Given the description of an element on the screen output the (x, y) to click on. 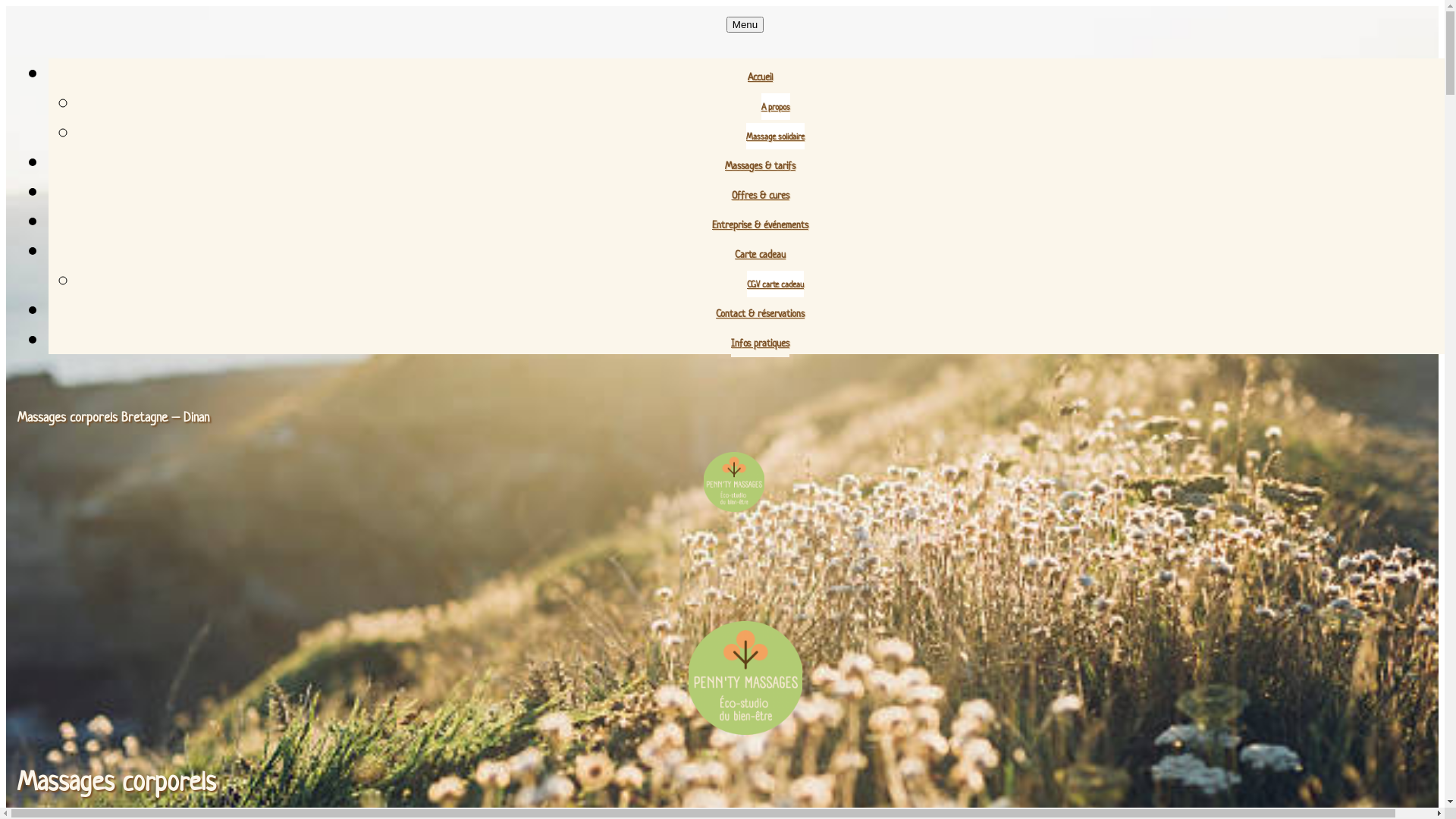
Accueil Element type: text (759, 76)
Menu Element type: text (744, 24)
A propos Element type: text (775, 106)
CGV carte cadeau Element type: text (774, 283)
Massage solidaire Element type: text (775, 135)
Massages & tarifs Element type: text (759, 165)
Offres & cures Element type: text (759, 195)
logo pennty Element type: hover (745, 677)
petit logo pennty Element type: hover (733, 481)
Infos pratiques Element type: text (760, 343)
Carte cadeau Element type: text (759, 254)
